Given the description of an element on the screen output the (x, y) to click on. 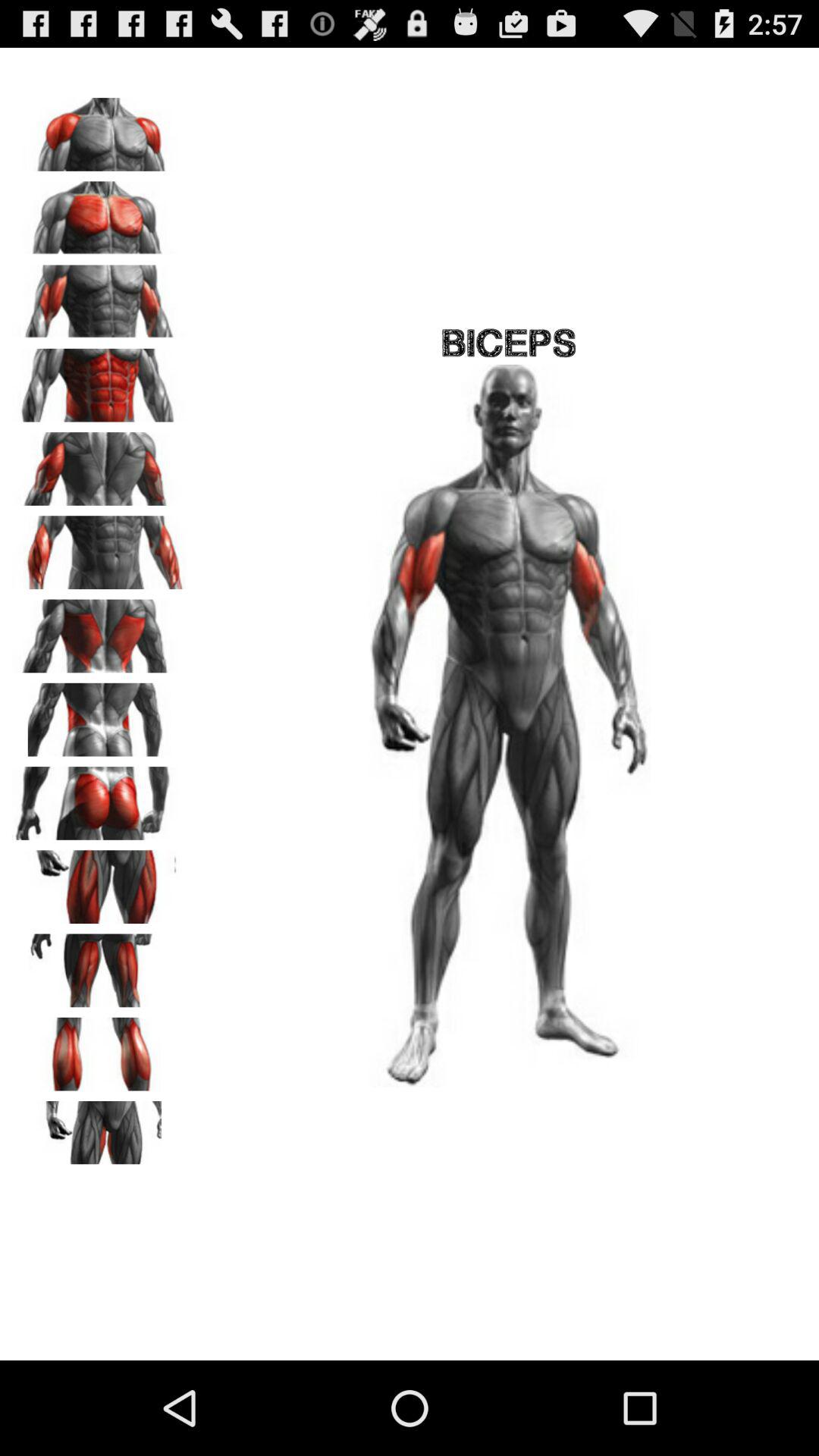
see biceps image (99, 547)
